Given the description of an element on the screen output the (x, y) to click on. 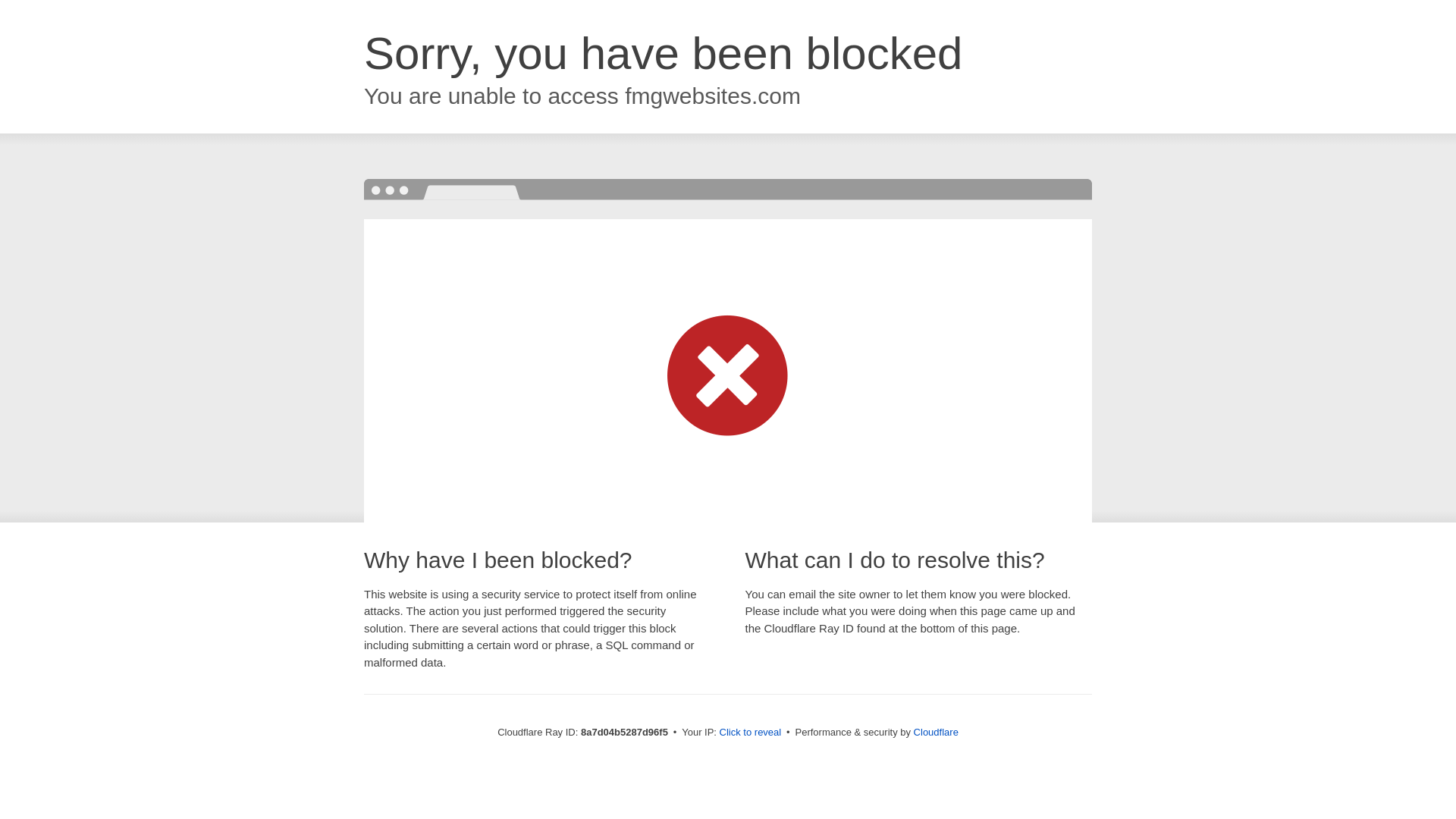
Click to reveal (750, 732)
Cloudflare (936, 731)
